Given the description of an element on the screen output the (x, y) to click on. 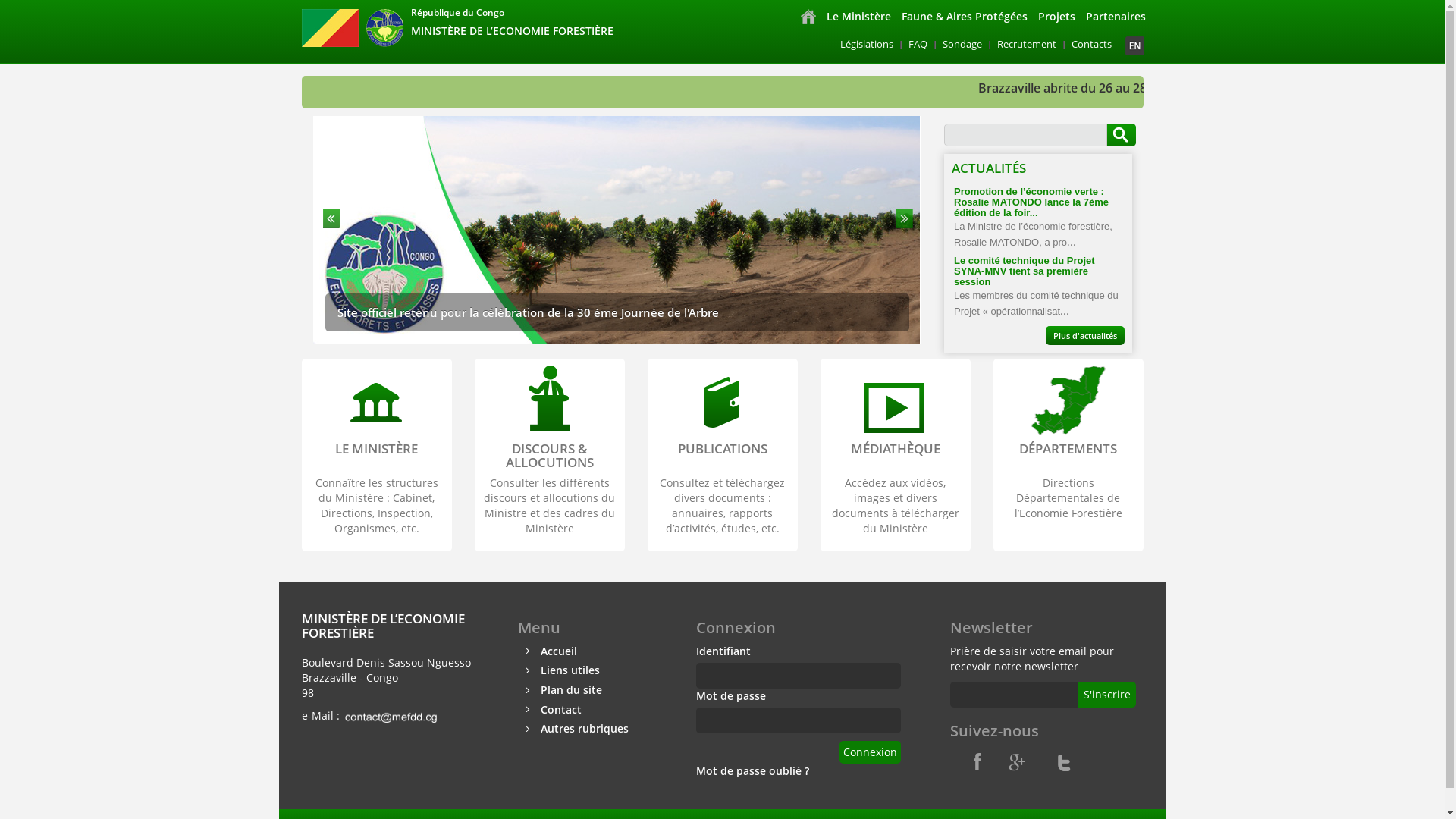
Connexion Element type: text (869, 751)
Accueil Element type: text (557, 650)
Share this on Google+ Element type: text (1017, 760)
Autres rubriques Element type: text (583, 728)
Next Element type: text (903, 218)
Accueil Element type: hover (807, 16)
Share this on Facebook Element type: text (971, 760)
Partenaires Element type: text (1114, 16)
Tweet This! Element type: text (1062, 760)
Liens utiles Element type: text (569, 669)
English Element type: hover (1134, 45)
FAQ Element type: text (916, 43)
Previous Element type: text (329, 218)
S'inscrire Element type: text (1106, 694)
Projets Element type: text (1056, 16)
Contact Element type: text (559, 709)
Contacts Element type: text (1091, 43)
Plan du site Element type: text (570, 689)
Sondage Element type: text (961, 43)
Recrutement Element type: text (1026, 43)
